Given the description of an element on the screen output the (x, y) to click on. 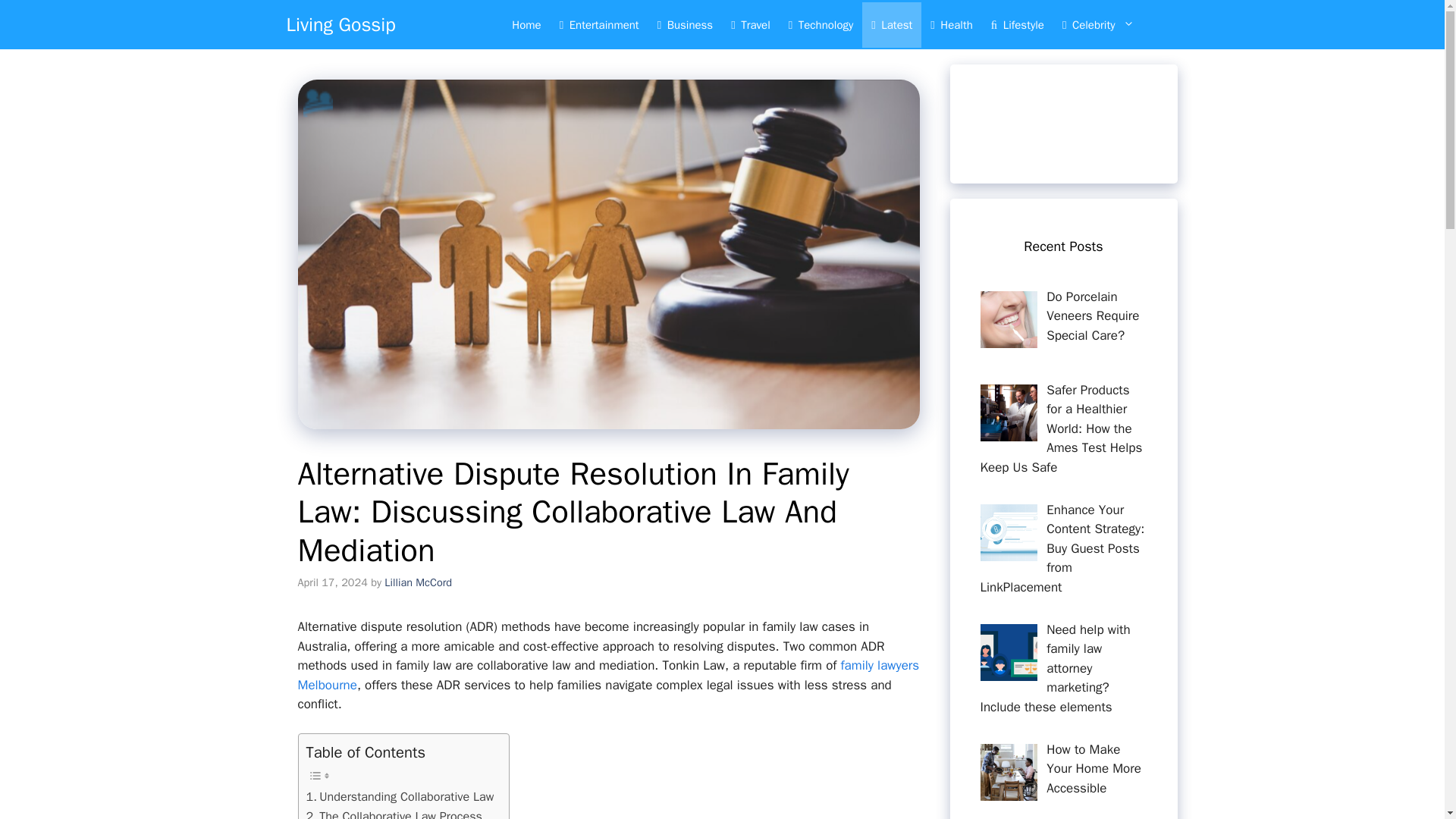
View all posts by Lillian McCord (417, 581)
Living Gossip (341, 24)
Home (526, 23)
Technology (820, 23)
Celebrity (1105, 23)
Lillian McCord (417, 581)
Health (951, 23)
The Collaborative Law Process (393, 812)
family lawyers Melbourne (607, 674)
Business (684, 23)
Travel (750, 23)
How to Make Your Home More Accessible (1093, 769)
Lifestyle (1016, 23)
Understanding Collaborative Law (400, 796)
